Given the description of an element on the screen output the (x, y) to click on. 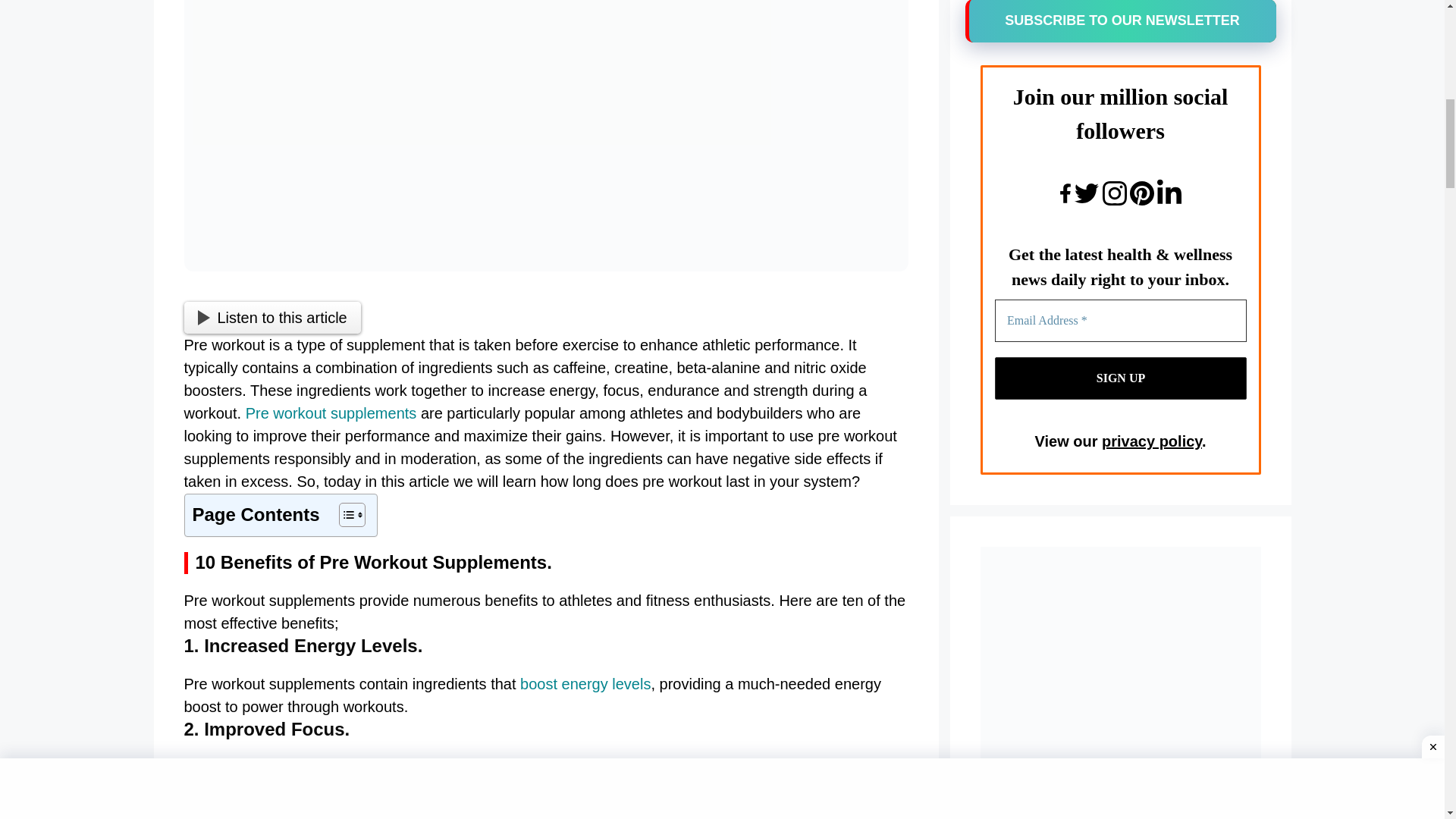
SIGN UP (1120, 378)
